Given the description of an element on the screen output the (x, y) to click on. 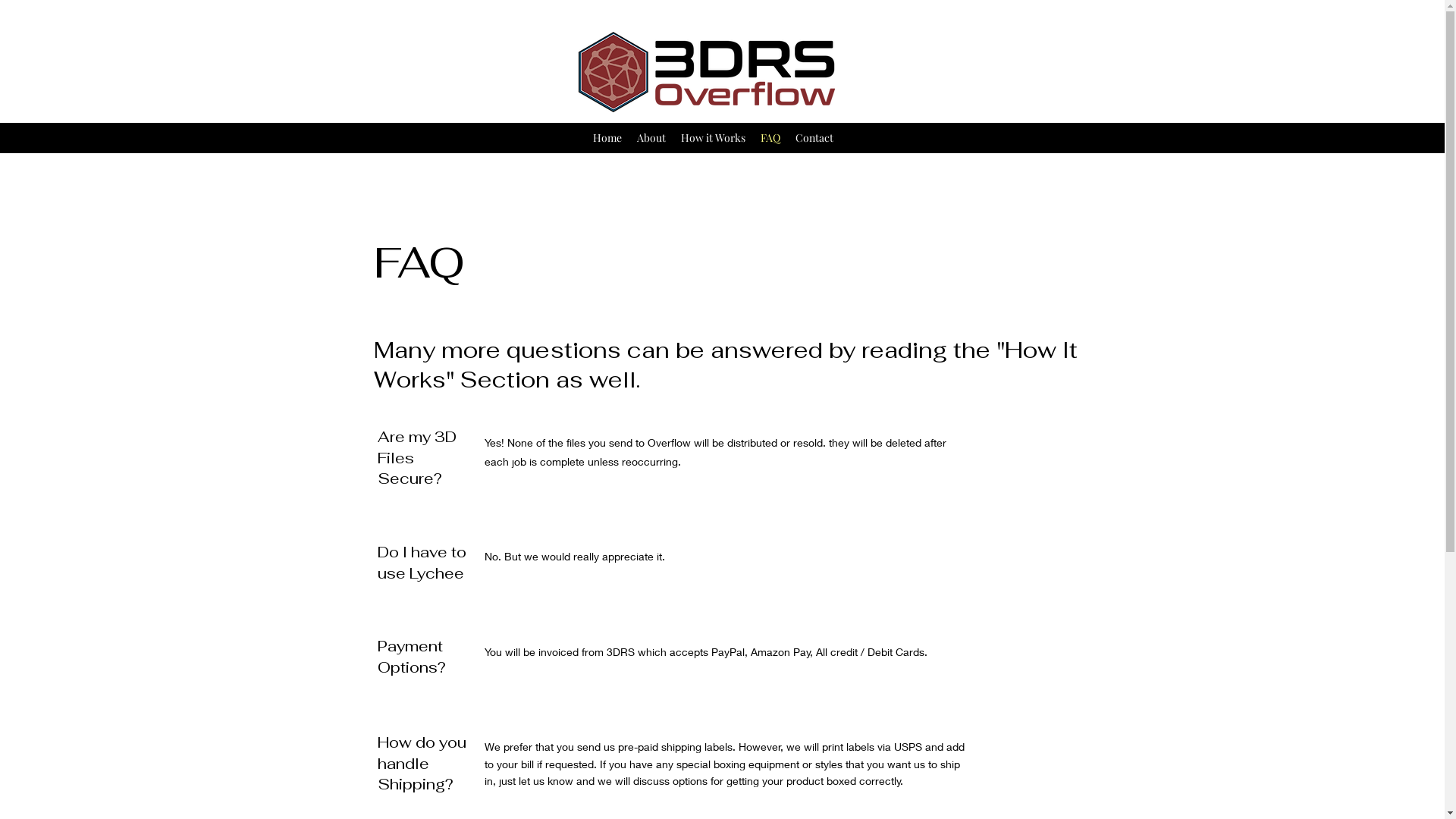
Contact Element type: text (813, 137)
About Element type: text (651, 137)
How it Works Element type: text (713, 137)
Home Element type: text (607, 137)
3DOverflow_Conthrax_Font_2022.png Element type: hover (703, 71)
FAQ Element type: text (769, 137)
